Given the description of an element on the screen output the (x, y) to click on. 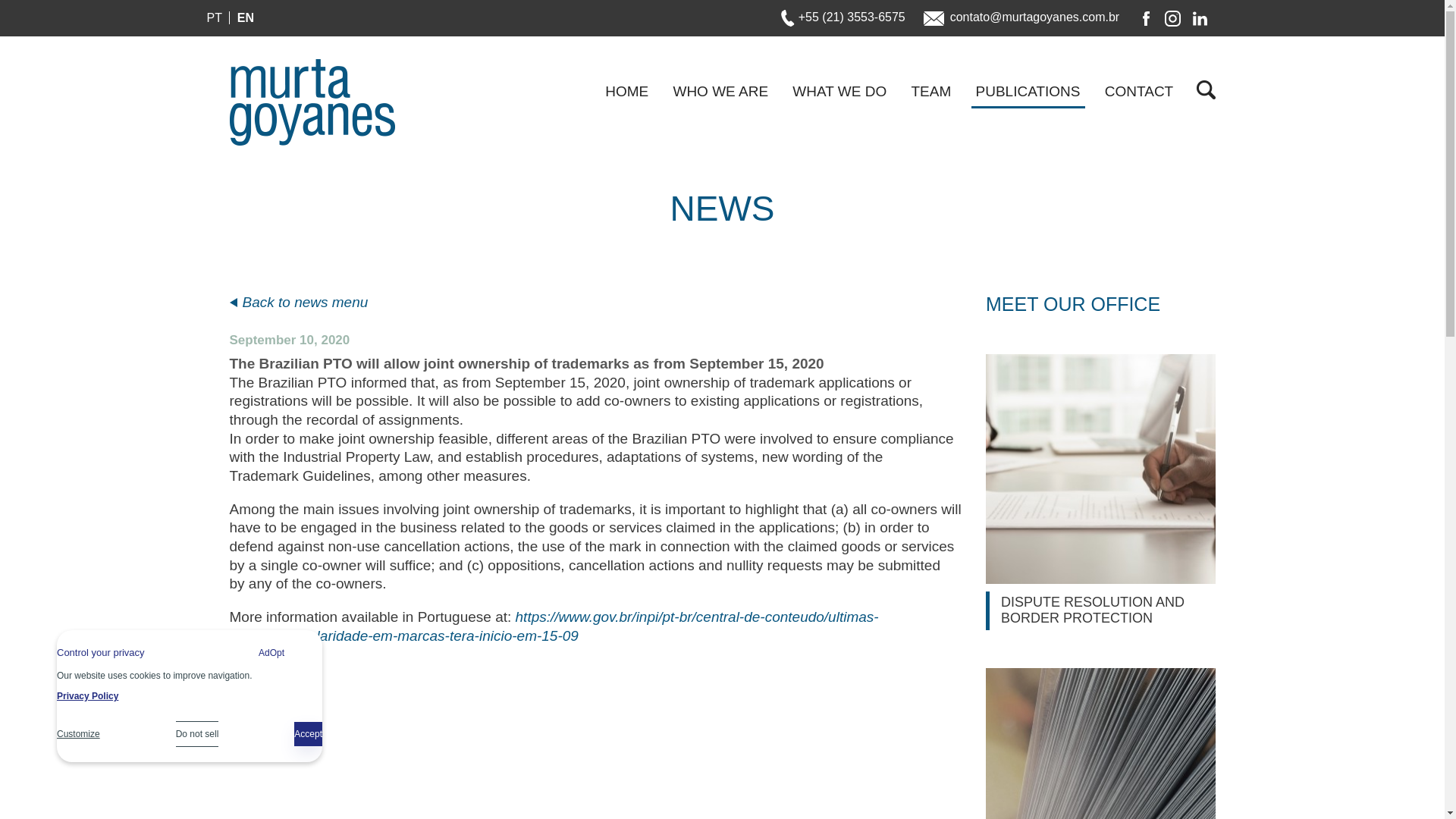
CONTACT (1138, 95)
TEAM (930, 95)
Murta Goyanes (311, 101)
Back to news menu (298, 301)
WHO WE ARE (720, 95)
HOME (625, 95)
EN (245, 17)
PT (213, 17)
September 10, 2020 (288, 339)
PUBLICATIONS (1027, 96)
WHAT WE DO (839, 95)
IP LICENSING, FRANCHISE AND TECHNOLOGY TRANSFER AGREEMENTS (1100, 743)
